Given the description of an element on the screen output the (x, y) to click on. 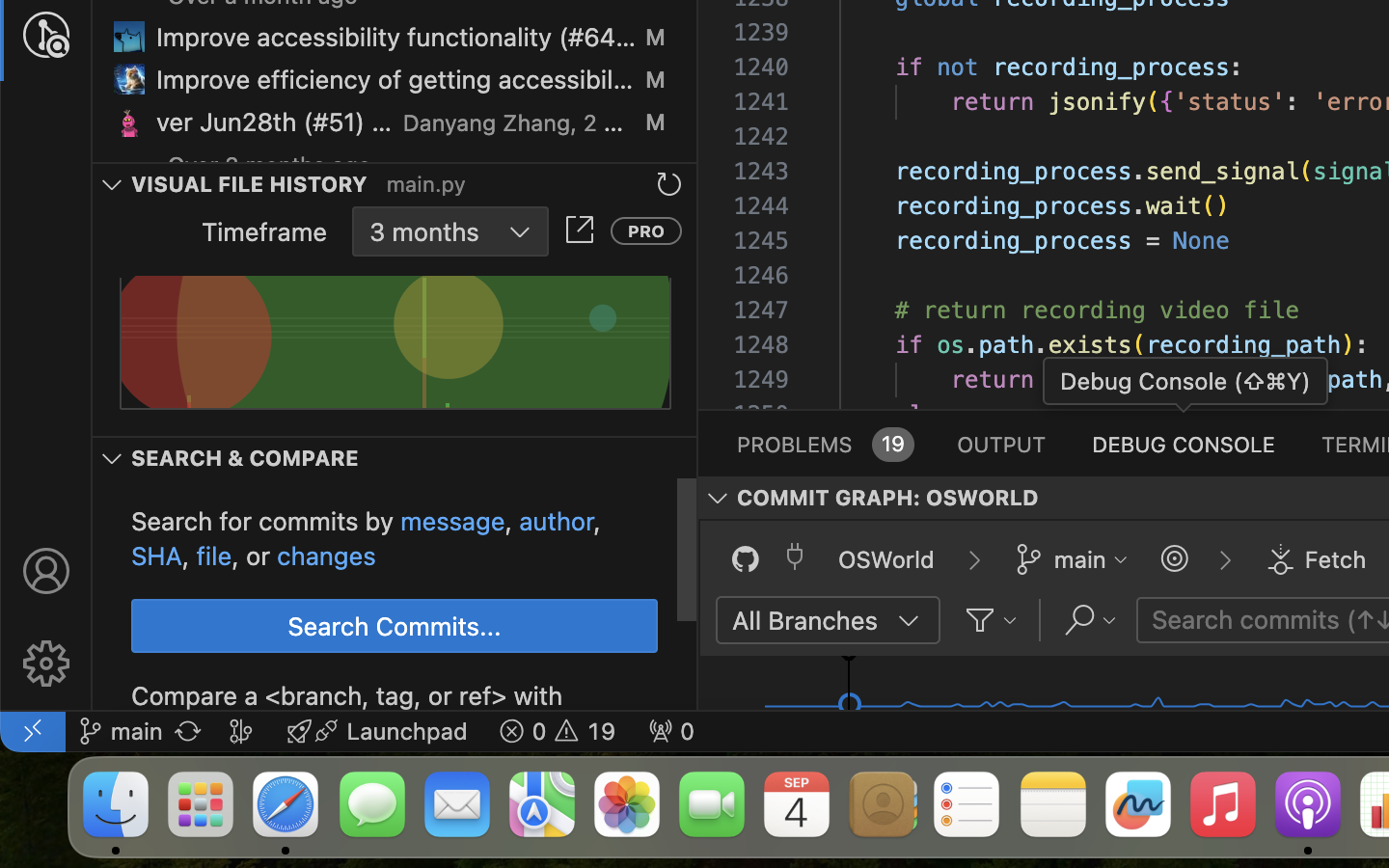
 Element type: AXStaticText (1279, 558)
Launchpad   Element type: AXButton (376, 730)
main Element type: AXStaticText (1080, 558)
Compare a <branch, tag, or ref> with another <branch, tag, or ref> Element type: AXStaticText (347, 694)
19  0  Element type: AXButton (557, 730)
